Given the description of an element on the screen output the (x, y) to click on. 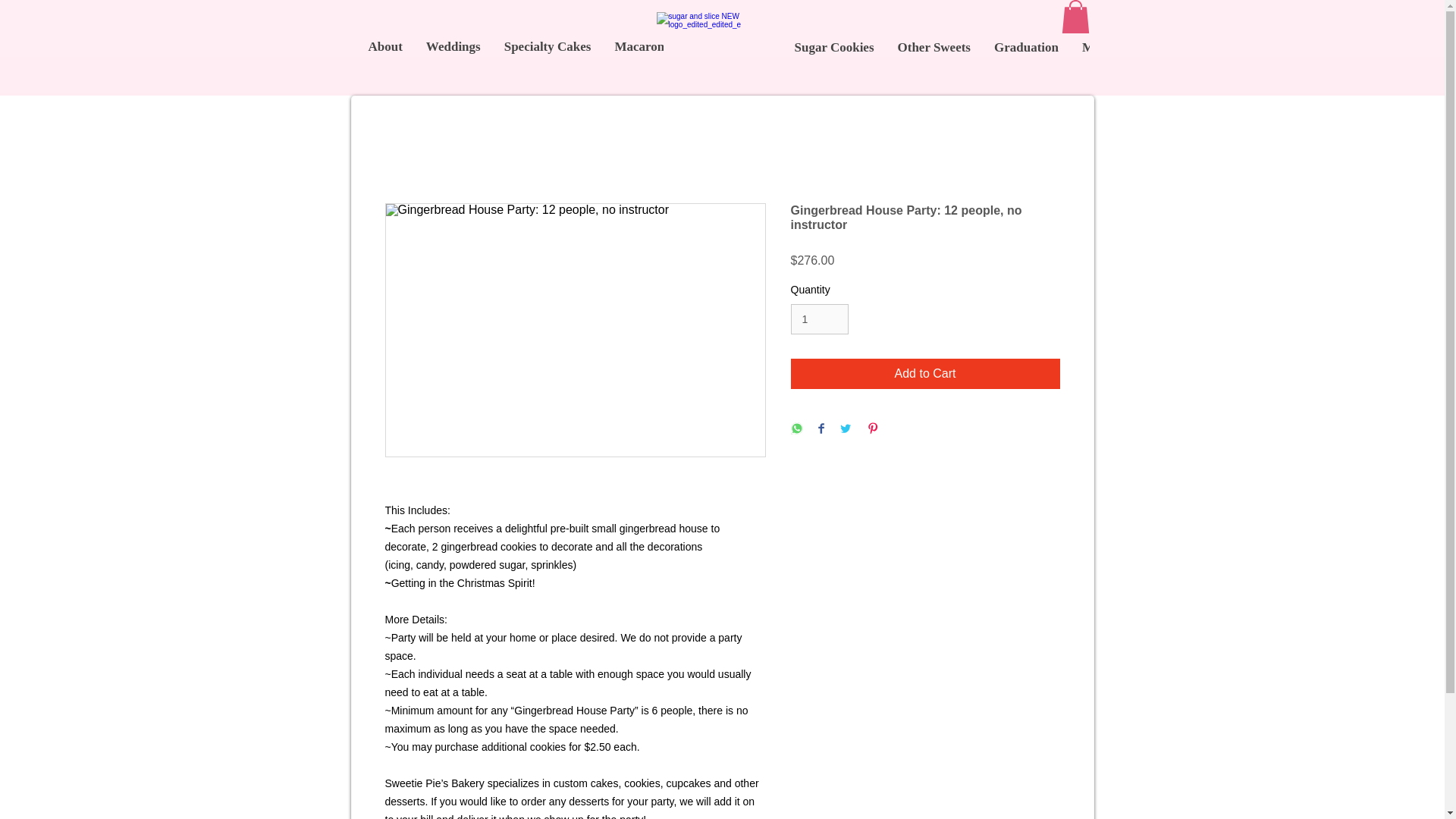
1 (818, 318)
Specialty Cakes (547, 56)
Weddings (453, 56)
Other Sweets (933, 57)
Add to Cart (924, 373)
About (384, 56)
Graduation (1026, 57)
Sugar Cookies (834, 57)
Macarons (640, 56)
